Given the description of an element on the screen output the (x, y) to click on. 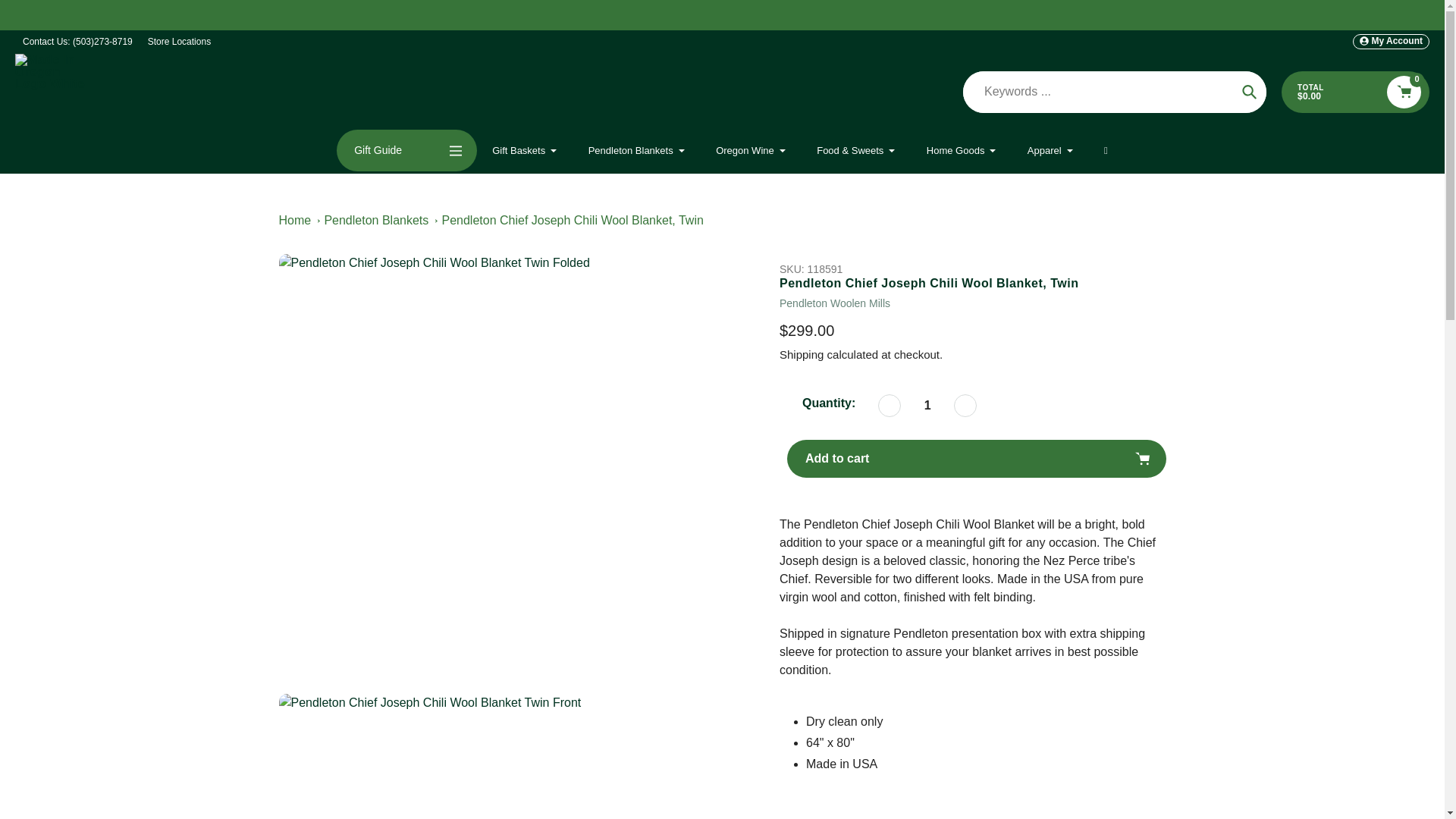
My Account (1390, 41)
Gift Guide (406, 150)
Store Locations (178, 41)
0 (1404, 92)
Pendleton Woolen Mills (833, 303)
1 (927, 405)
